Given the description of an element on the screen output the (x, y) to click on. 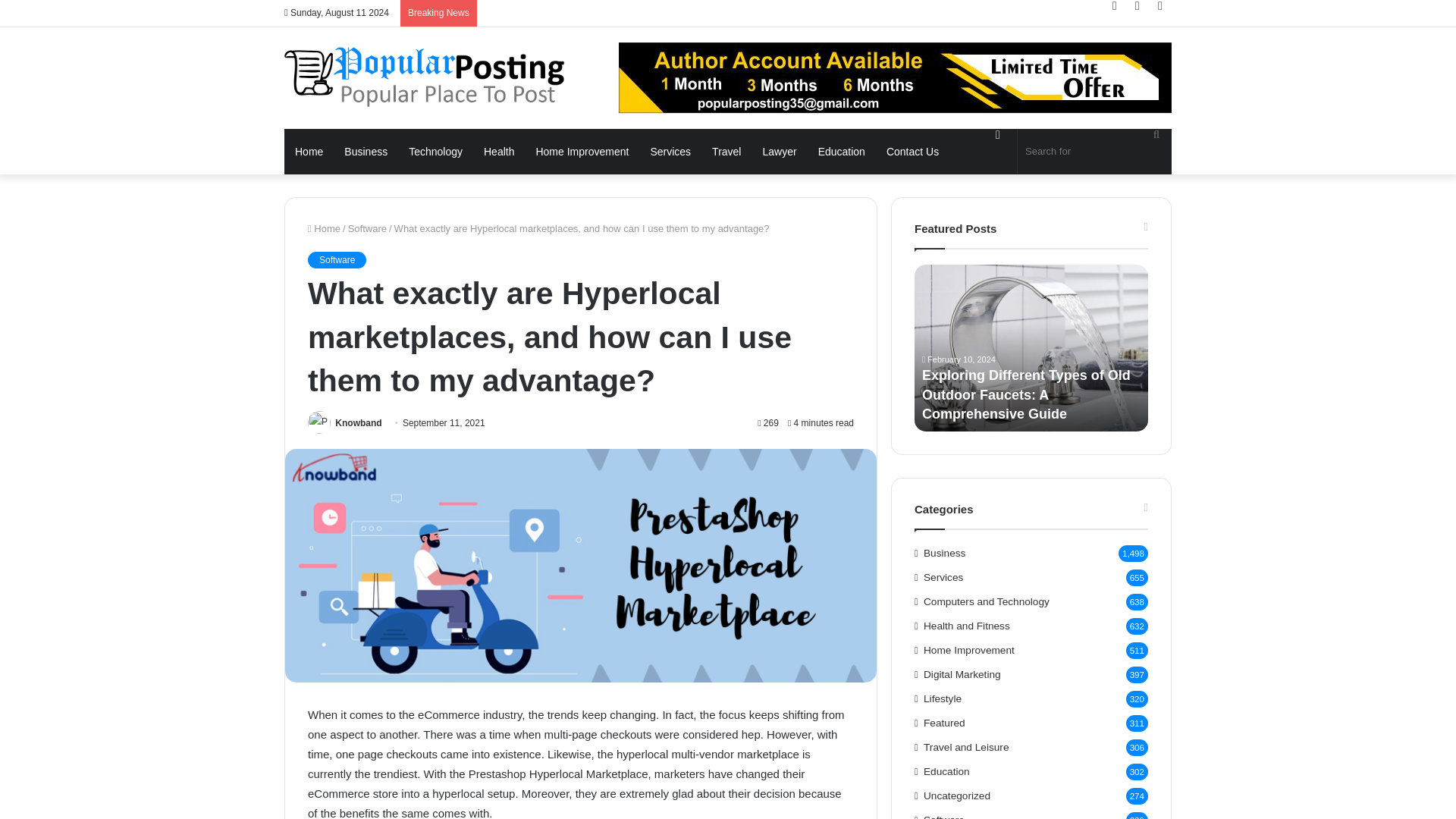
Home Improvement (581, 151)
Education (842, 151)
Search for (1156, 134)
Business (365, 151)
Sidebar (1160, 6)
Contact Us (912, 151)
Search for (1094, 151)
Home (308, 151)
Random Article (1136, 6)
Log In (1114, 6)
